Given the description of an element on the screen output the (x, y) to click on. 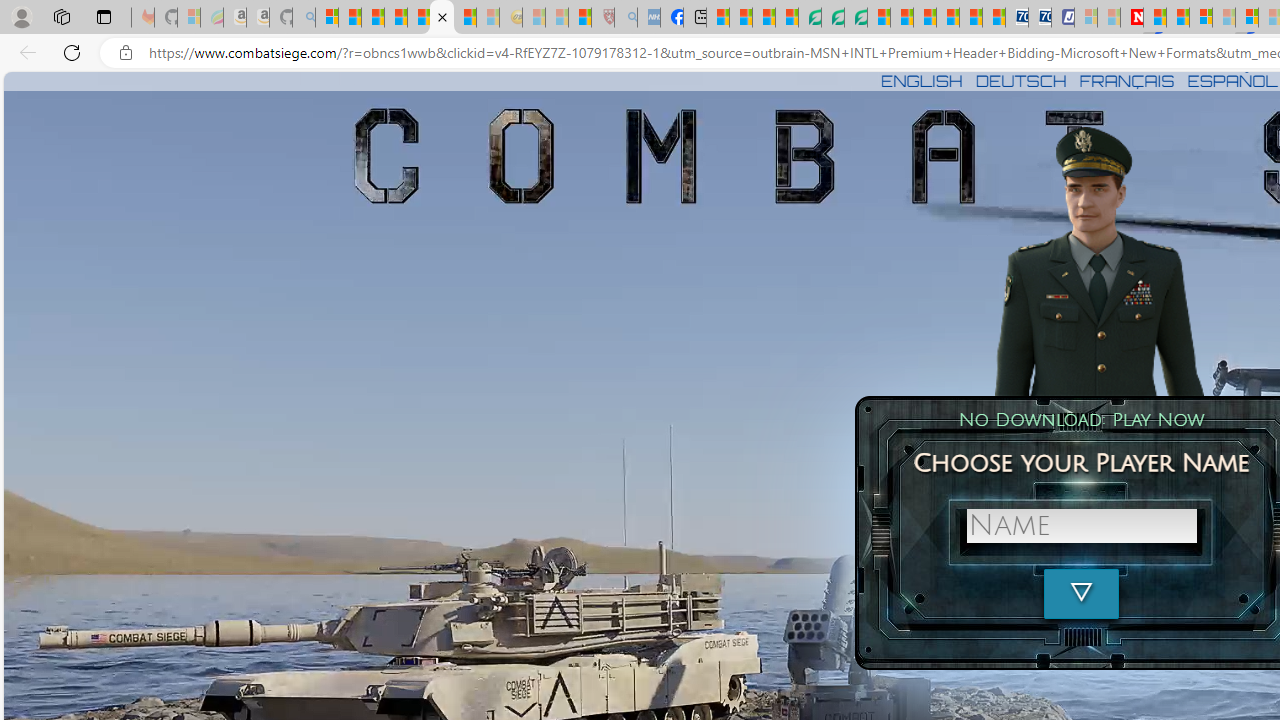
DEUTSCH (1021, 80)
Cheap Hotels - Save70.com (1039, 17)
Name (1081, 525)
ENGLISH (921, 80)
